Given the description of an element on the screen output the (x, y) to click on. 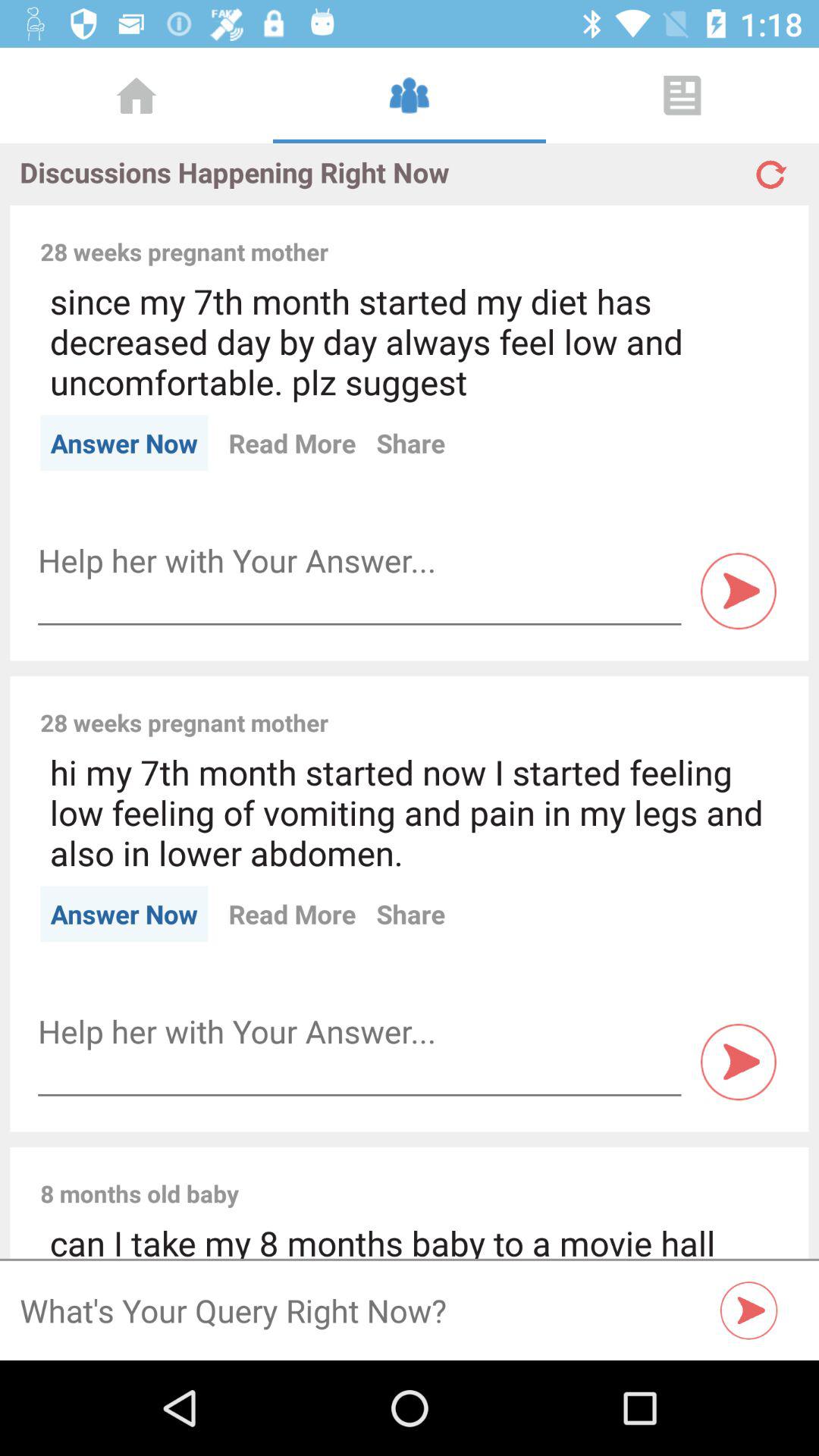
refresh (768, 168)
